Given the description of an element on the screen output the (x, y) to click on. 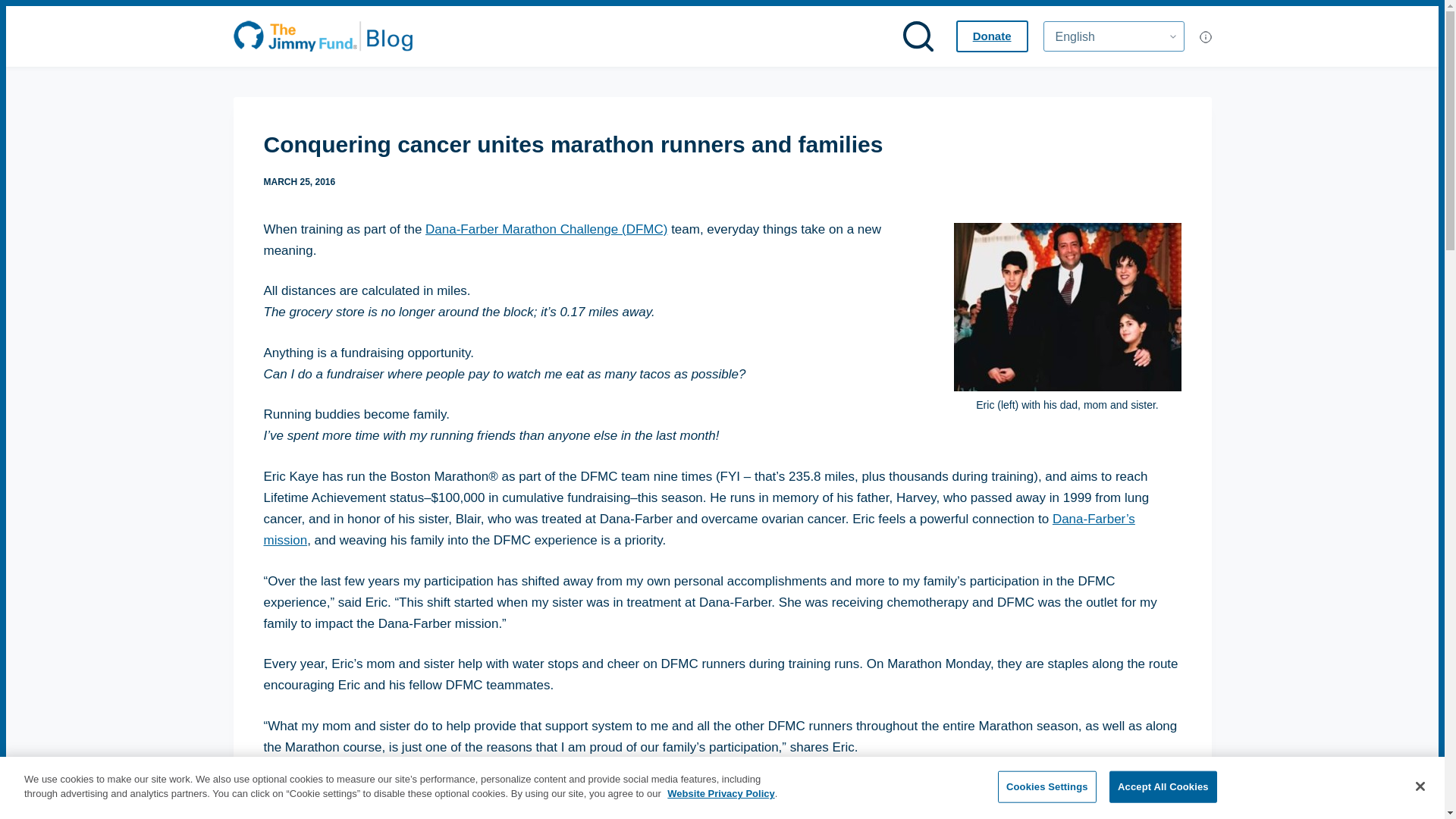
Donate (991, 36)
Conquering cancer unites marathon runners and families (721, 144)
Claudia Adams Barr Program (712, 797)
Skip to content (15, 7)
